Given the description of an element on the screen output the (x, y) to click on. 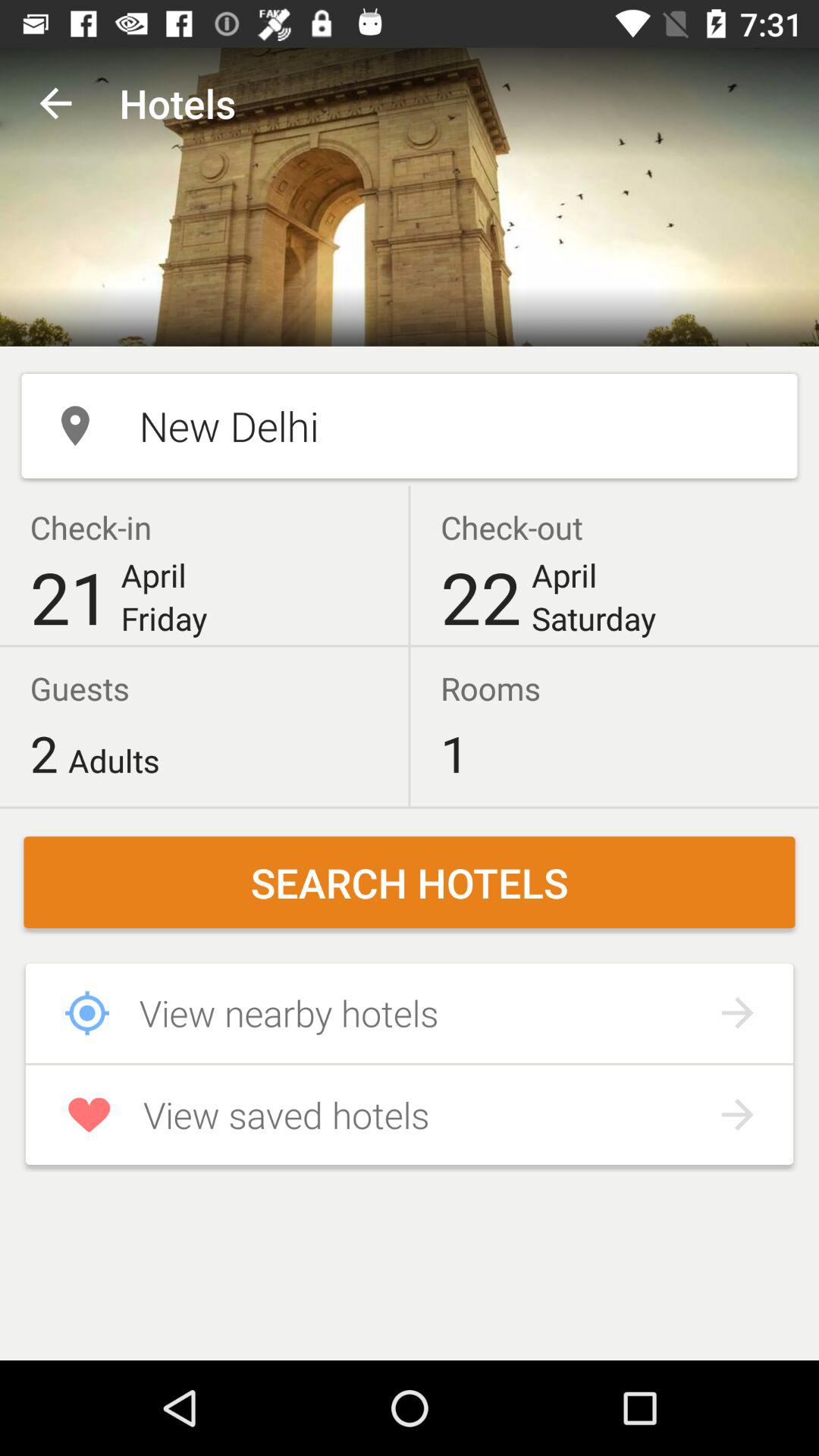
click on the option below the image (409, 426)
click on forward arrow icon right to view nearby hotels (737, 1013)
